Given the description of an element on the screen output the (x, y) to click on. 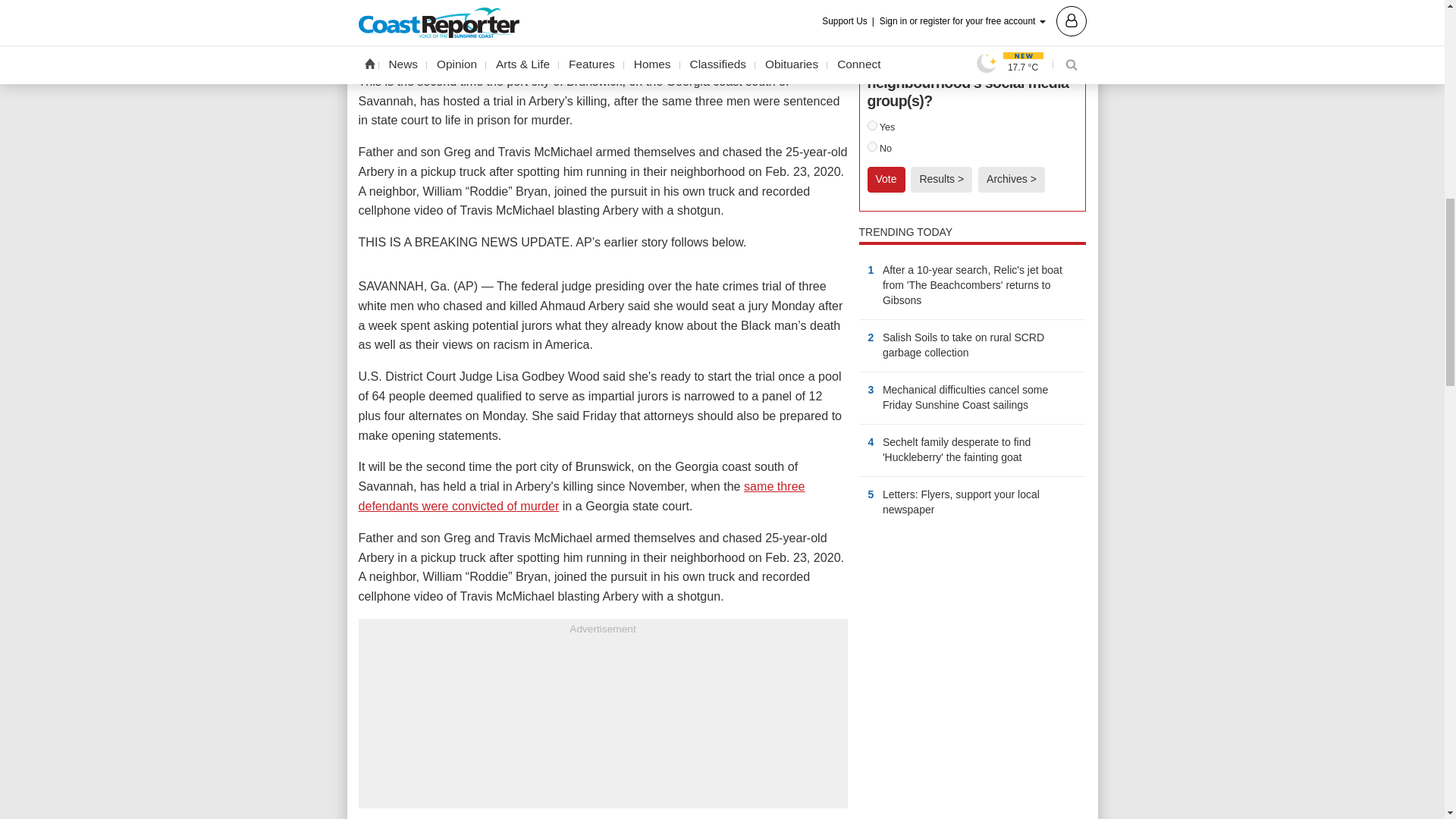
Has a gallery (1030, 458)
Has a gallery (930, 301)
123032 (872, 146)
123031 (872, 125)
